Given the description of an element on the screen output the (x, y) to click on. 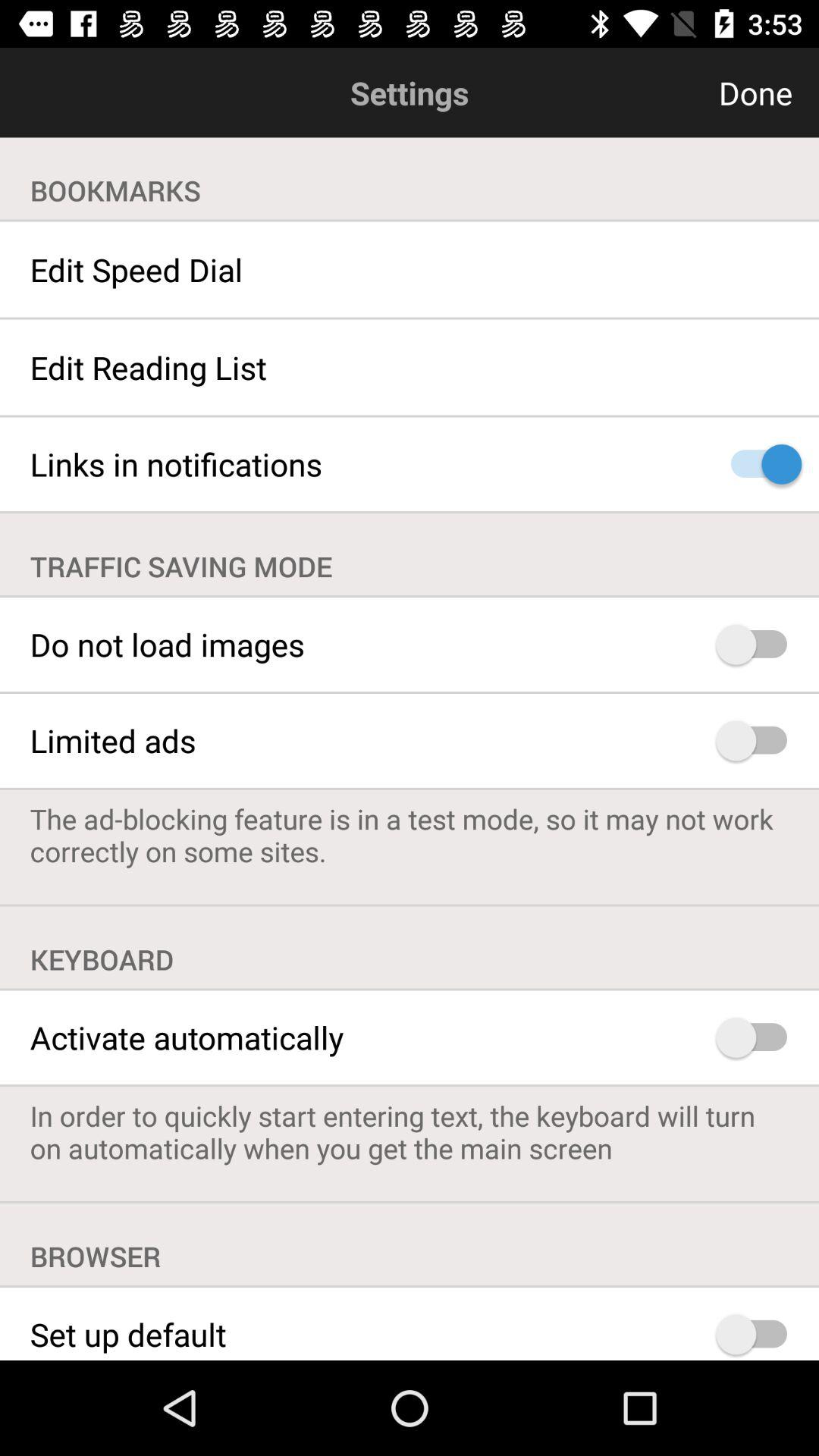
switch notifications option (758, 464)
